Given the description of an element on the screen output the (x, y) to click on. 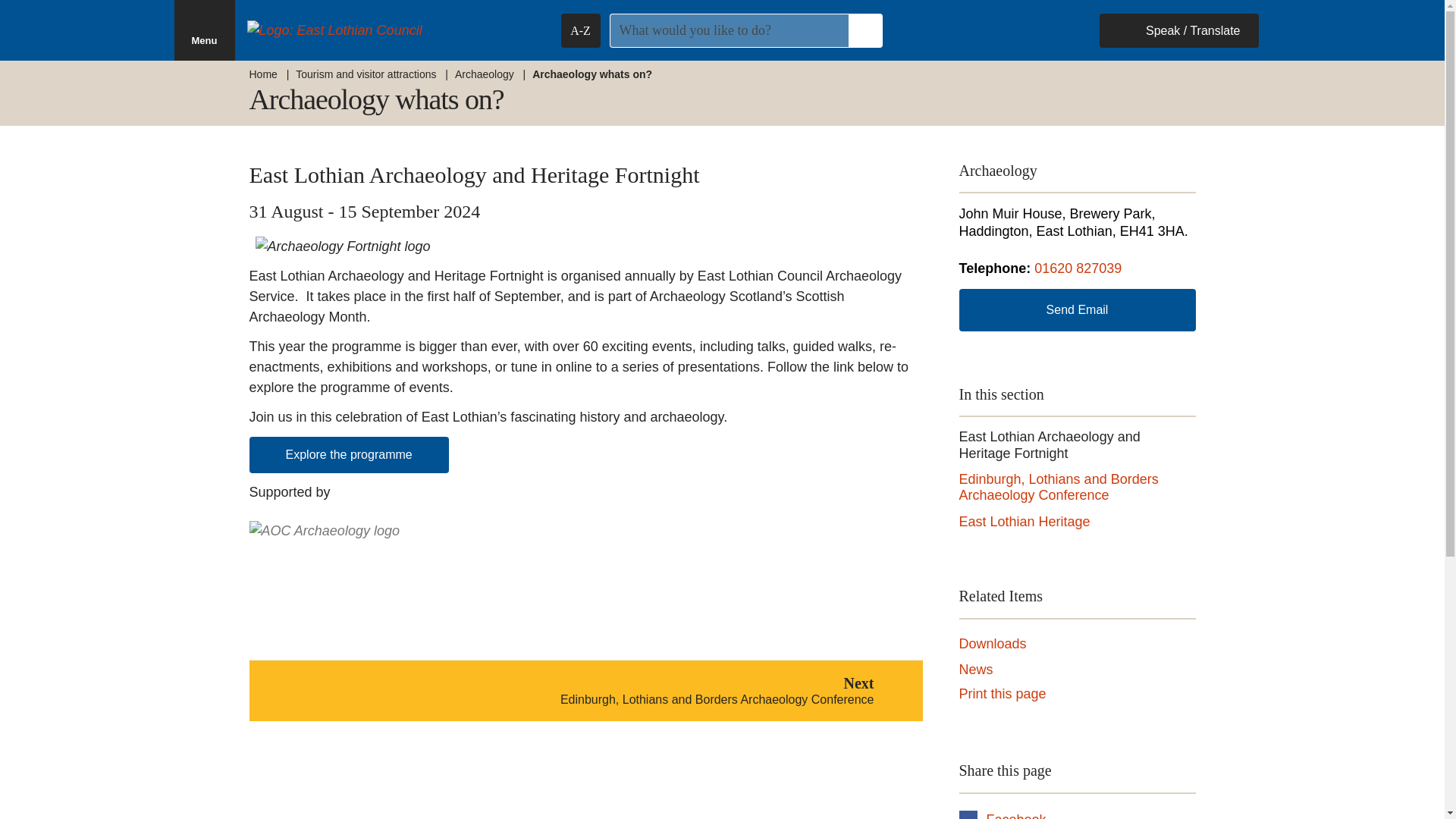
Search (864, 30)
East Lothian Council Home Page (390, 29)
Home (992, 644)
Archaeology (262, 74)
Explore the programme (1023, 522)
Menu (483, 74)
01620 827039 (348, 454)
Tourism and visitor attractions (204, 30)
